Given the description of an element on the screen output the (x, y) to click on. 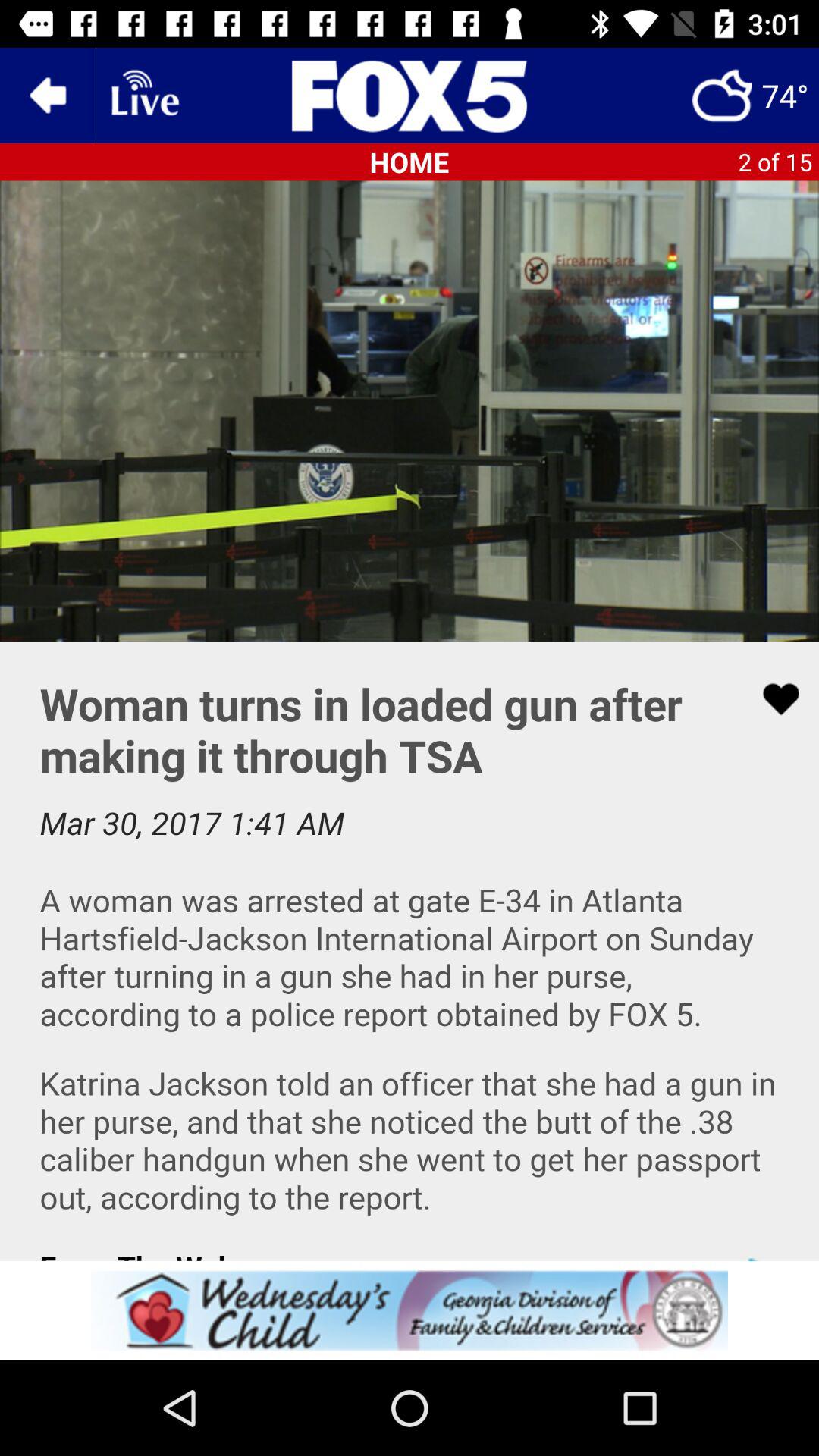
view live broadcast (143, 95)
